Given the description of an element on the screen output the (x, y) to click on. 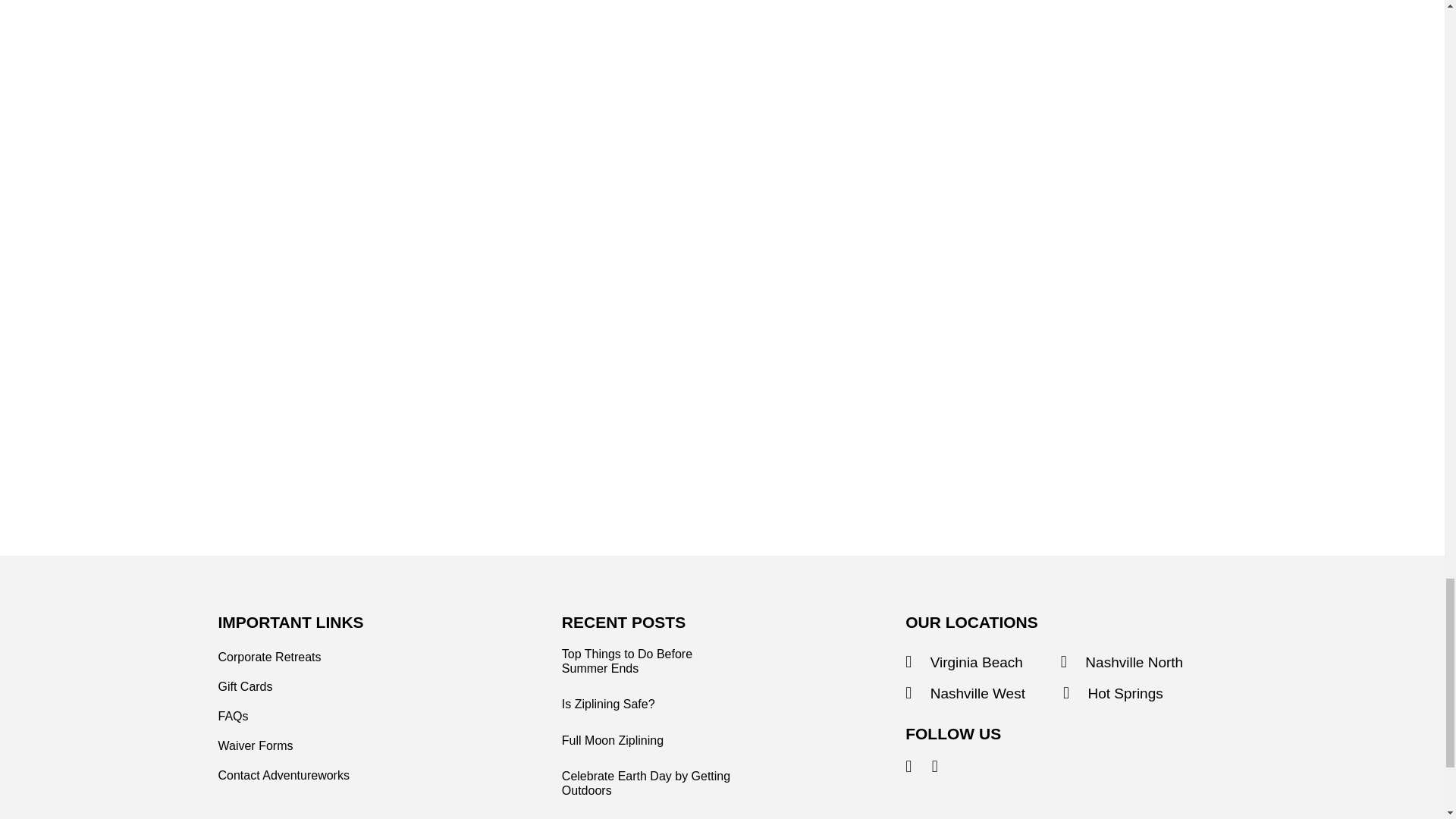
Corporate Retreats (269, 657)
FAQs (233, 716)
Waiver Forms (256, 745)
Gift Cards (245, 686)
Contact Adventureworks (283, 775)
